Given the description of an element on the screen output the (x, y) to click on. 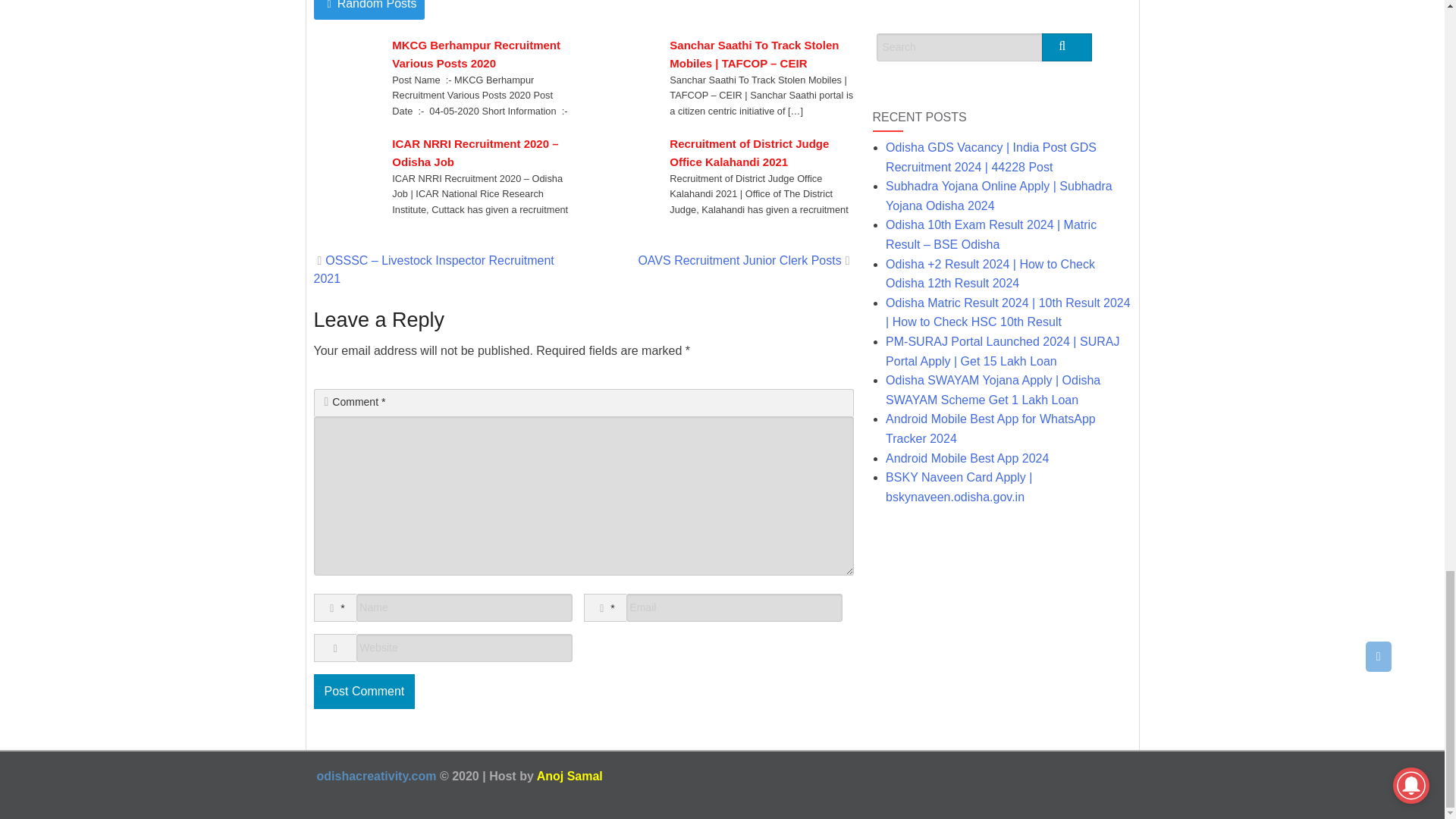
Go (1067, 47)
MKCG Berhampur Recruitment Various Posts 2020 (483, 54)
Post Comment (364, 691)
